Given the description of an element on the screen output the (x, y) to click on. 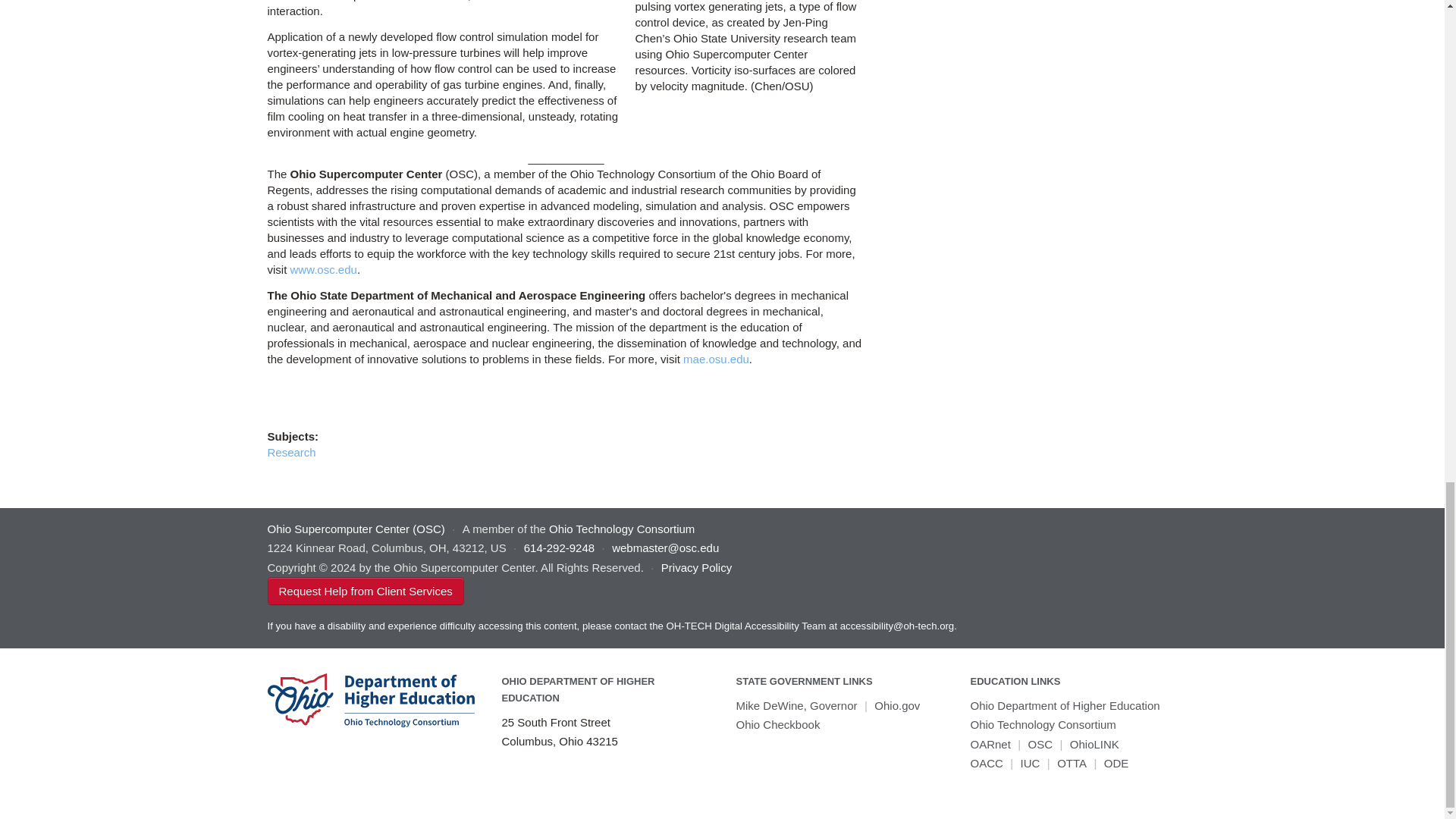
Inter-University Council of Ohio (1030, 762)
The Ohio Technology Consortium (1043, 724)
Ohio Supercomputer Center (1039, 744)
Ohio Department of Education (1116, 762)
Ohio Association of Community Colleges (987, 762)
Ohio Library and Information Network (1094, 744)
Ohio Tuition Trust Authority (1071, 762)
